Given the description of an element on the screen output the (x, y) to click on. 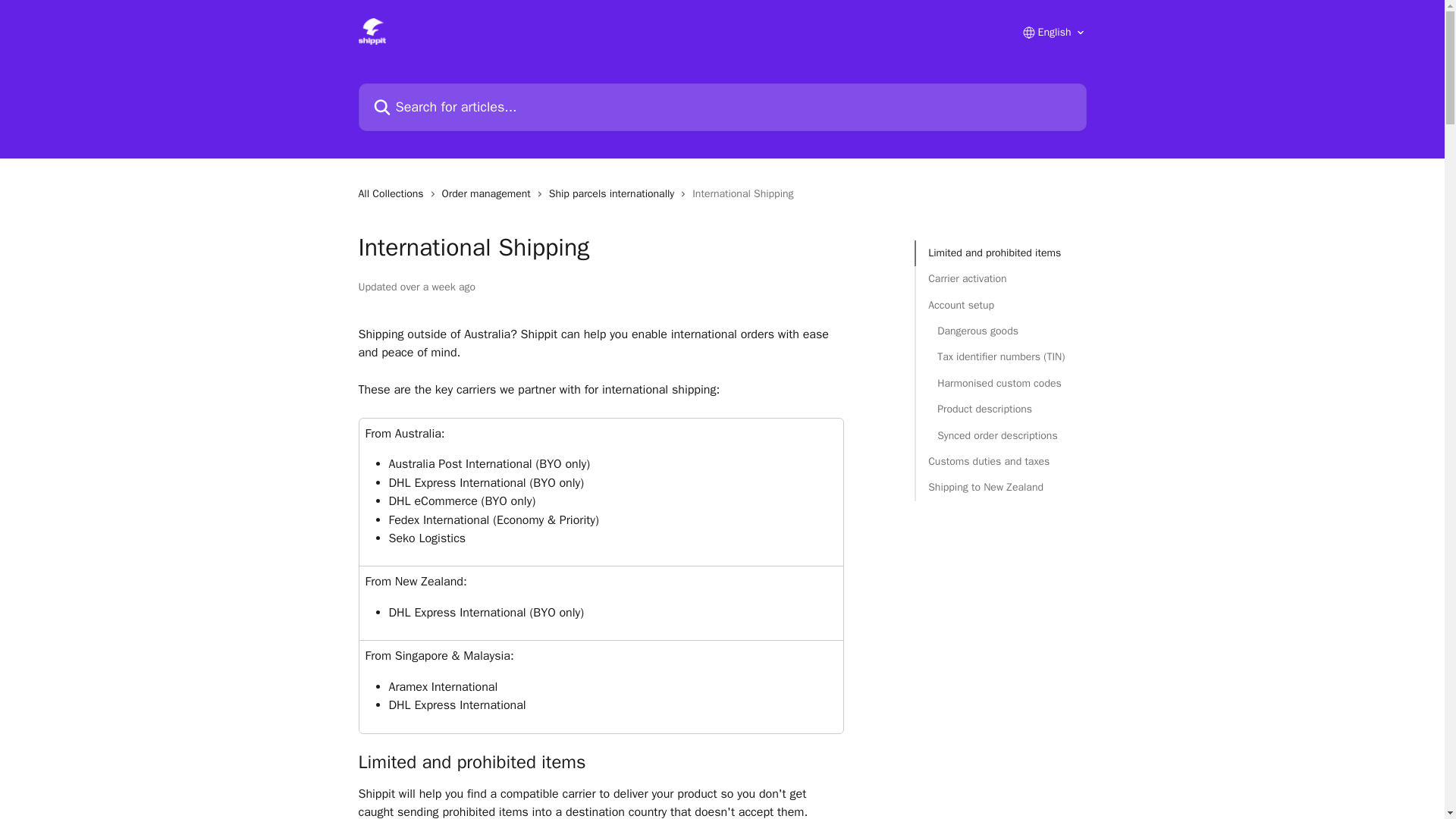
All Collections (393, 193)
Order management (489, 193)
Account setup (1001, 305)
Limited and prohibited items (1001, 252)
Ship parcels internationally (613, 193)
Carrier activation (1001, 279)
Product descriptions (1000, 409)
Customs duties and taxes (1001, 461)
Shipping to New Zealand (1001, 487)
Harmonised custom codes (1000, 383)
